Given the description of an element on the screen output the (x, y) to click on. 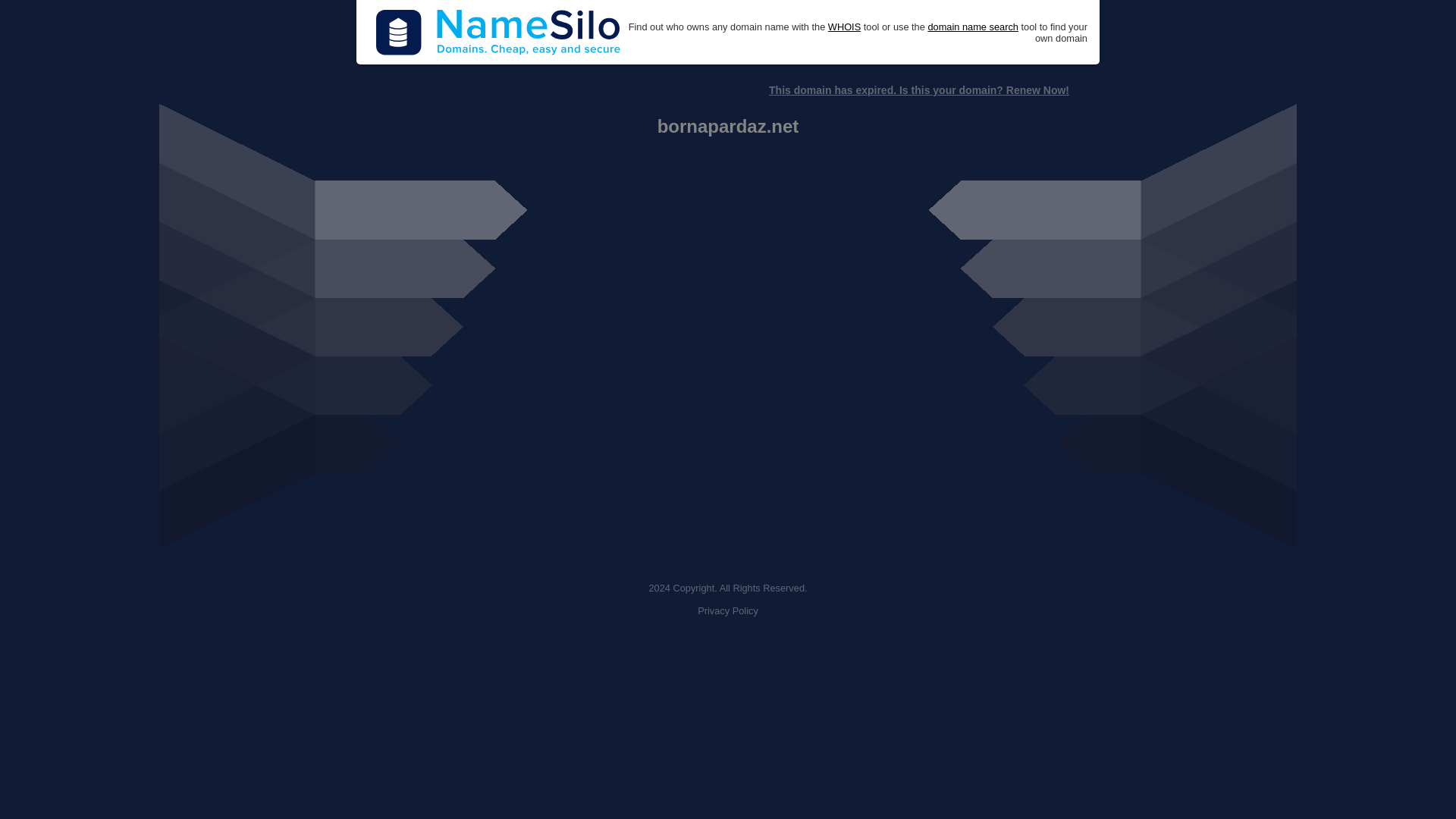
This domain has expired. Is this your domain? Renew Now! (918, 90)
domain name search (972, 26)
WHOIS (844, 26)
Privacy Policy (727, 610)
